Given the description of an element on the screen output the (x, y) to click on. 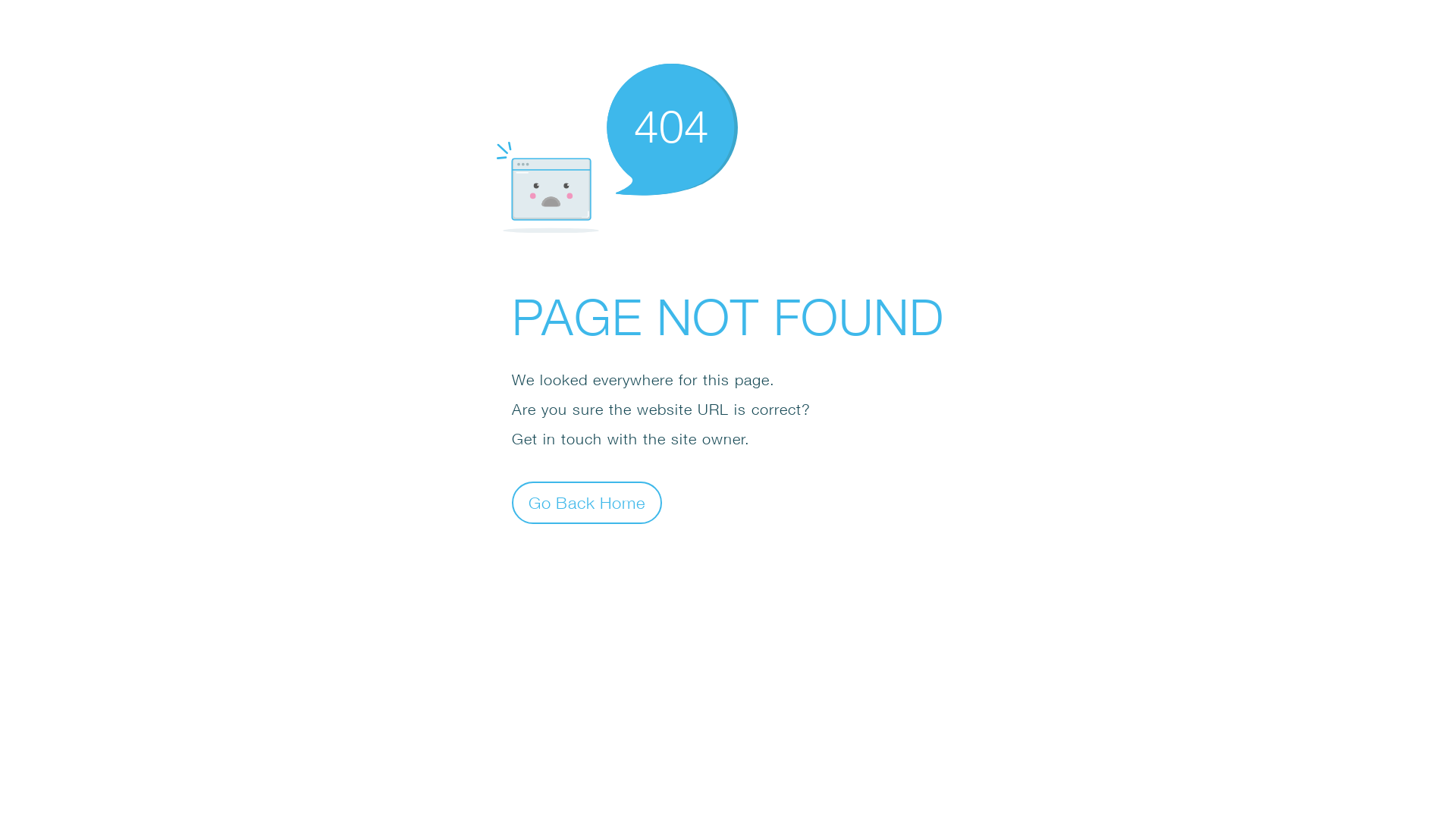
Go Back Home Element type: text (586, 502)
